Given the description of an element on the screen output the (x, y) to click on. 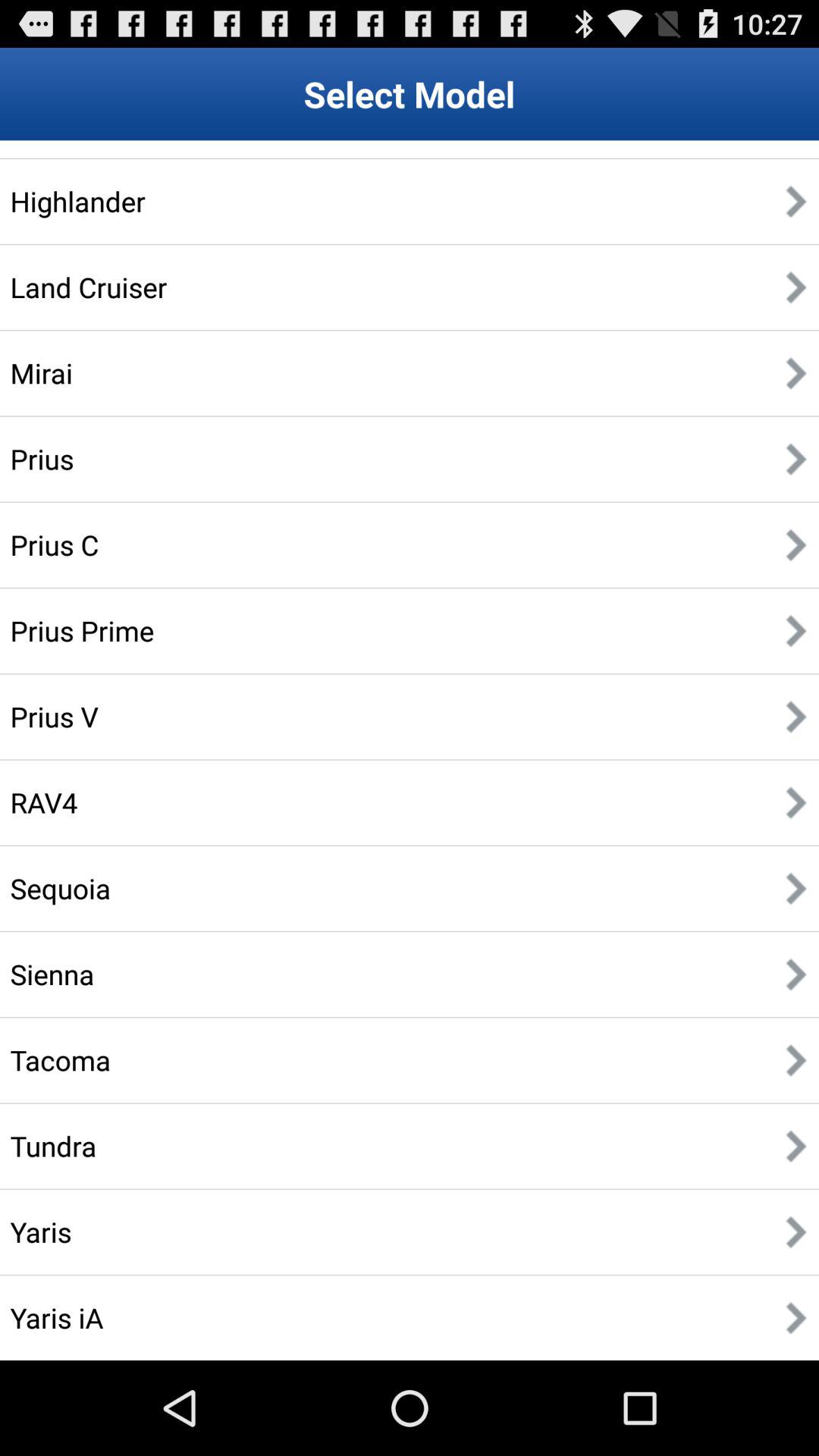
choose prius prime item (82, 630)
